Given the description of an element on the screen output the (x, y) to click on. 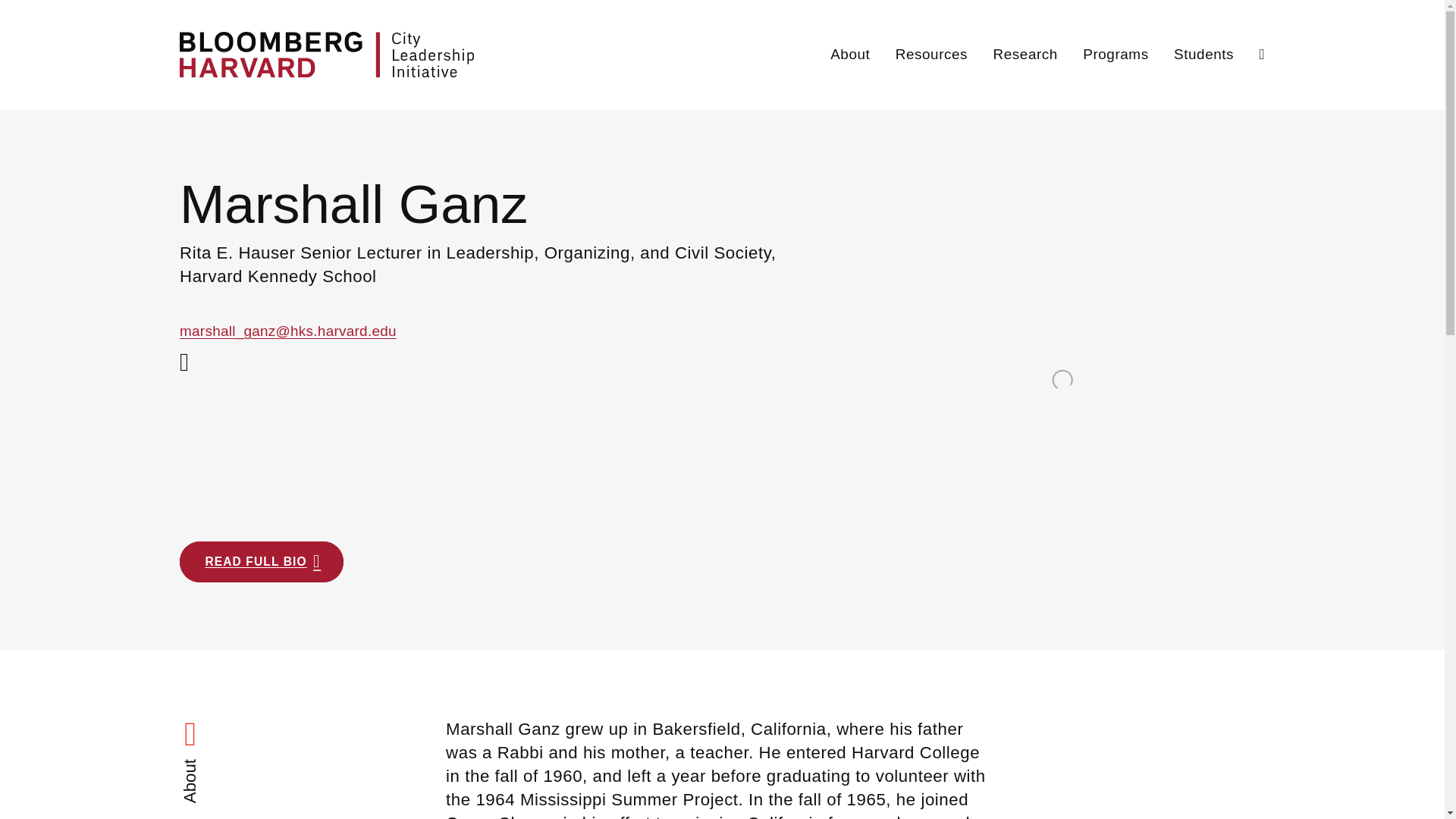
READ FULL BIO (261, 561)
Students (1203, 54)
Research (1025, 54)
Programs (1115, 54)
Resources (931, 54)
About (849, 54)
